Given the description of an element on the screen output the (x, y) to click on. 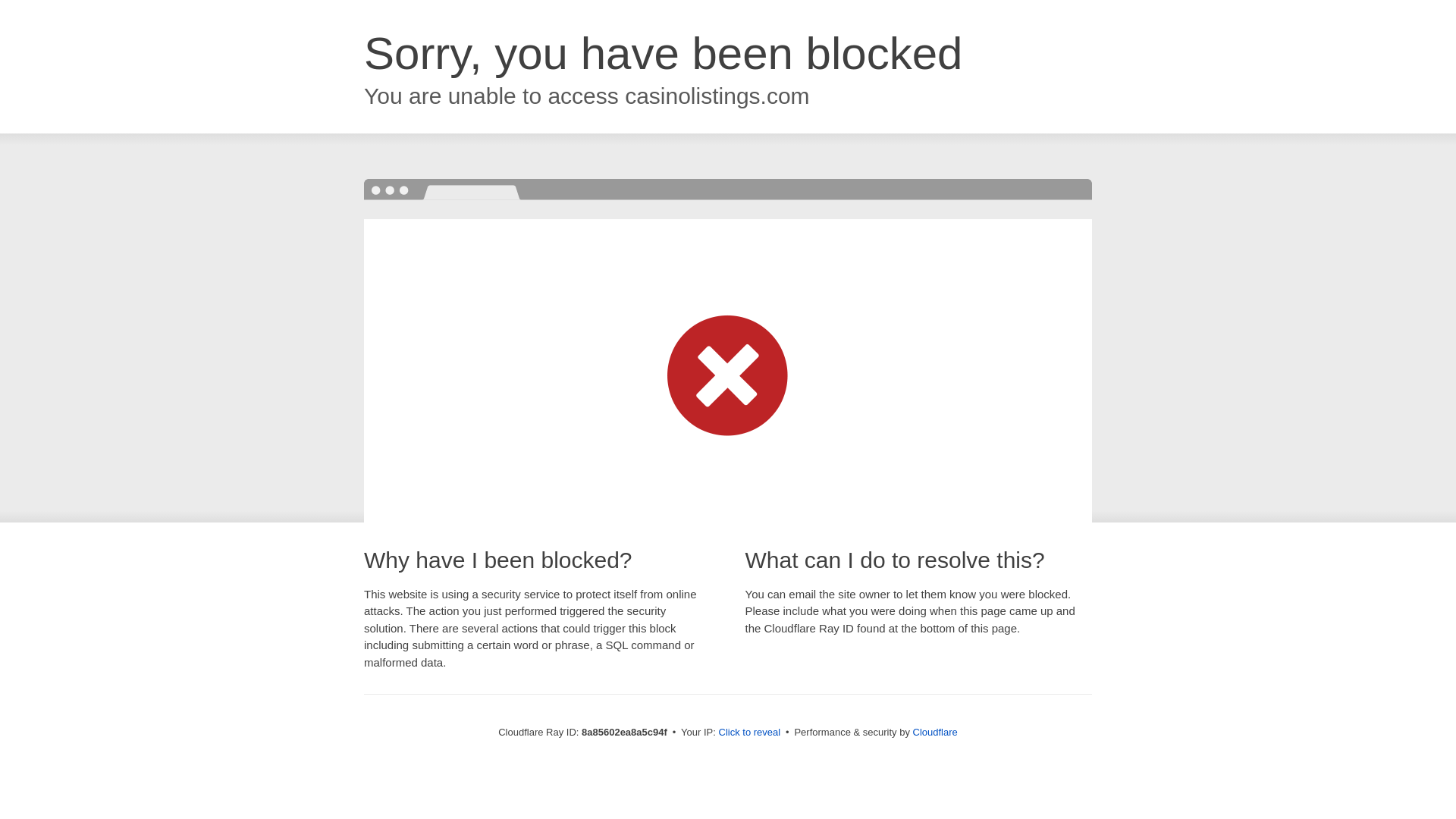
Click to reveal (749, 732)
Cloudflare (935, 731)
